Given the description of an element on the screen output the (x, y) to click on. 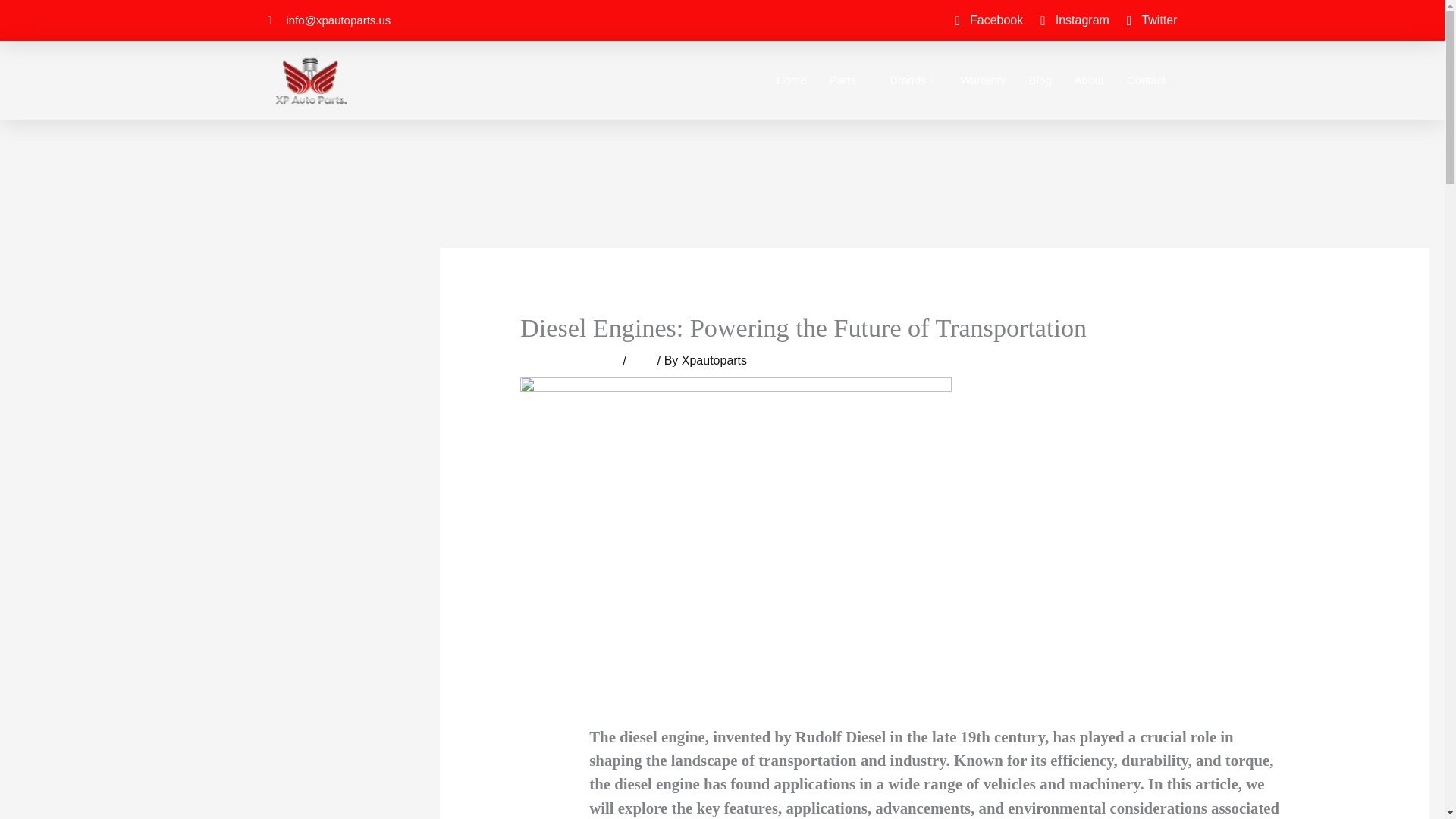
Warranty (982, 79)
Brands (914, 79)
Instagram (1071, 20)
Xpautoparts (713, 359)
Leave a Comment (569, 359)
Parts (848, 79)
Contact (1146, 79)
View all posts by Xpautoparts (713, 359)
Twitter (1149, 20)
Facebook (986, 20)
